Given the description of an element on the screen output the (x, y) to click on. 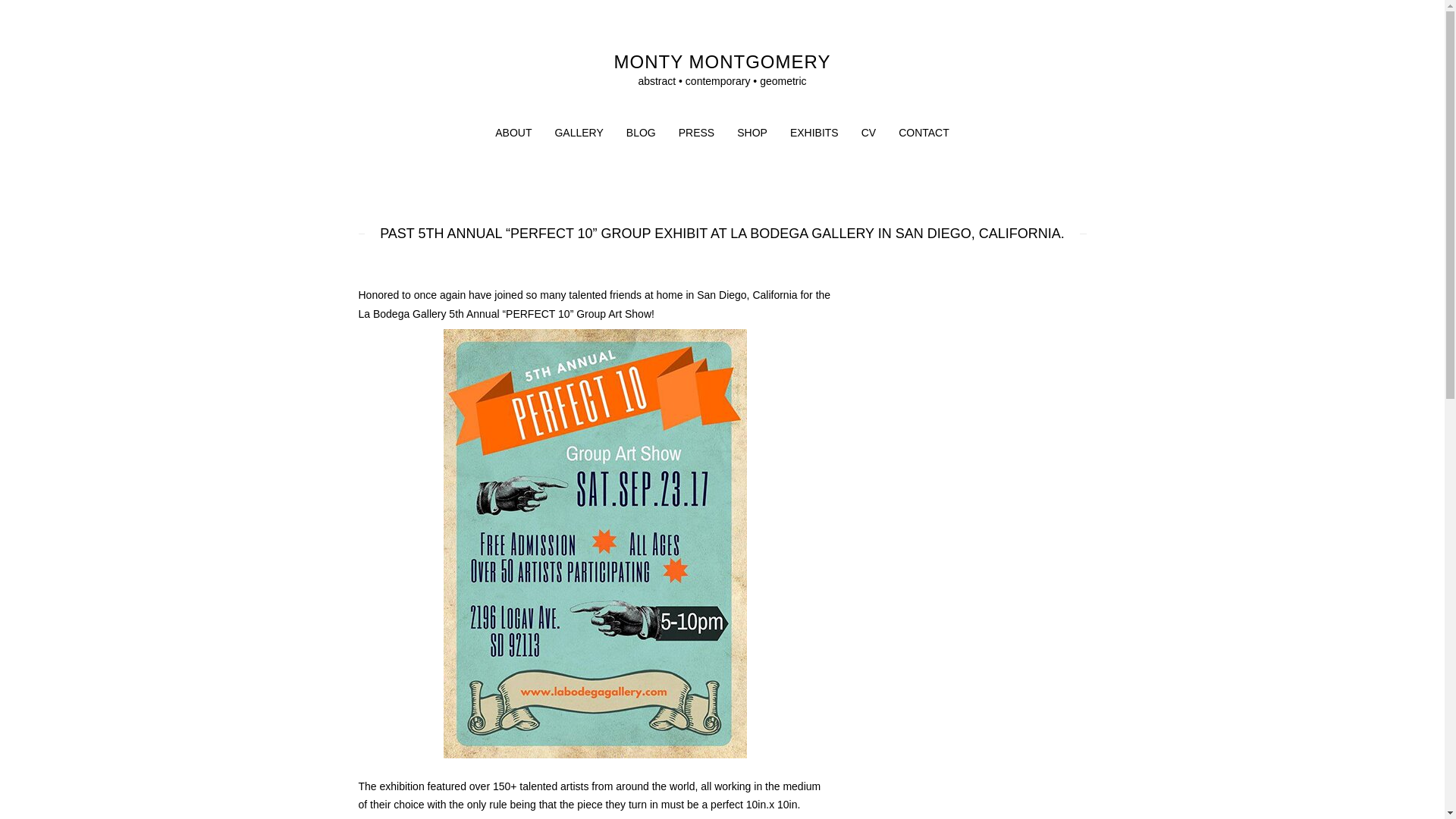
SHOP (751, 132)
ABOUT (513, 132)
CV (868, 132)
BLOG (640, 132)
GALLERY (578, 132)
CONTACT (923, 132)
PRESS (695, 132)
EXHIBITS (814, 132)
